Given the description of an element on the screen output the (x, y) to click on. 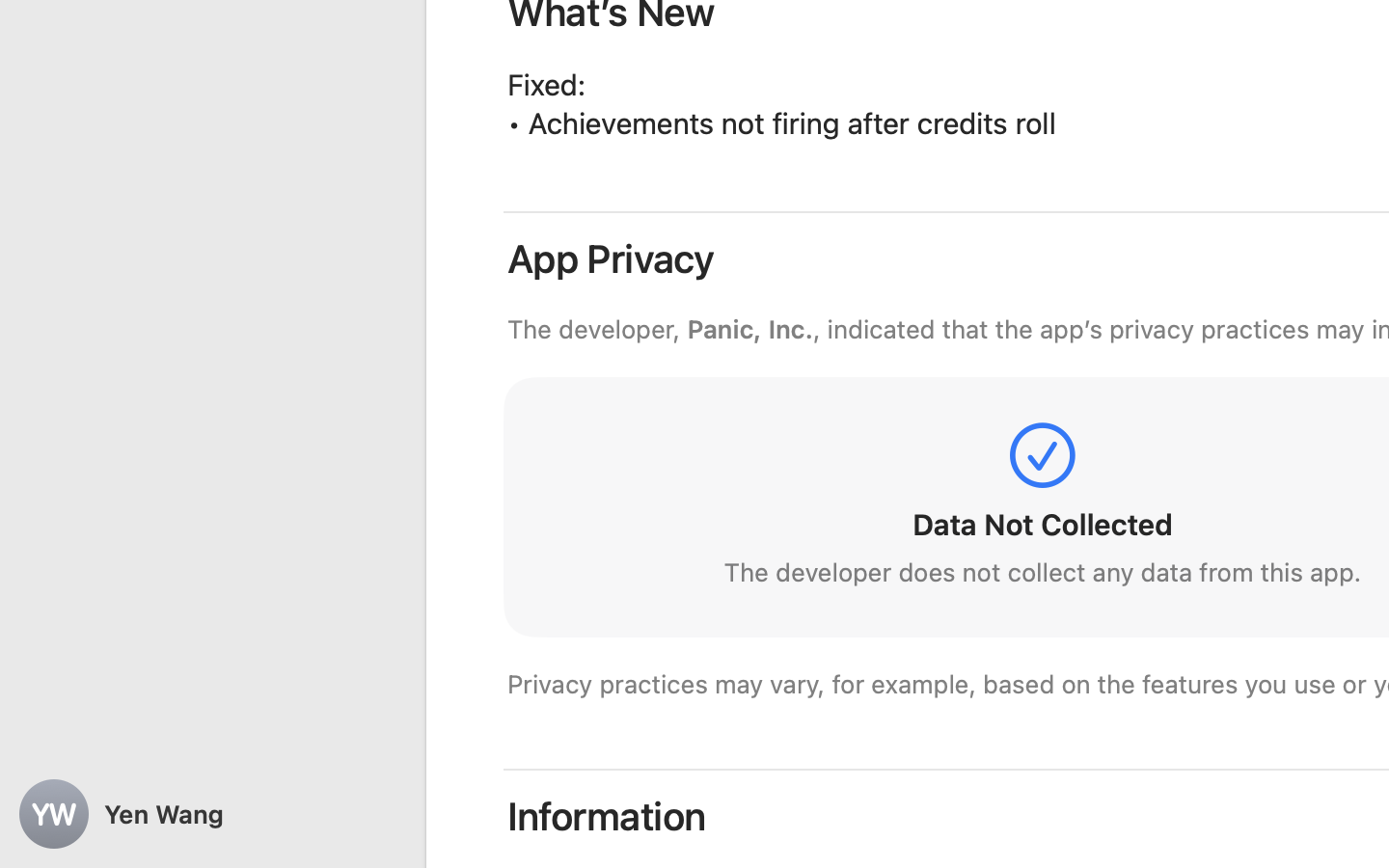
Yen Wang Element type: AXButton (212, 813)
App Privacy Element type: AXStaticText (611, 258)
